Given the description of an element on the screen output the (x, y) to click on. 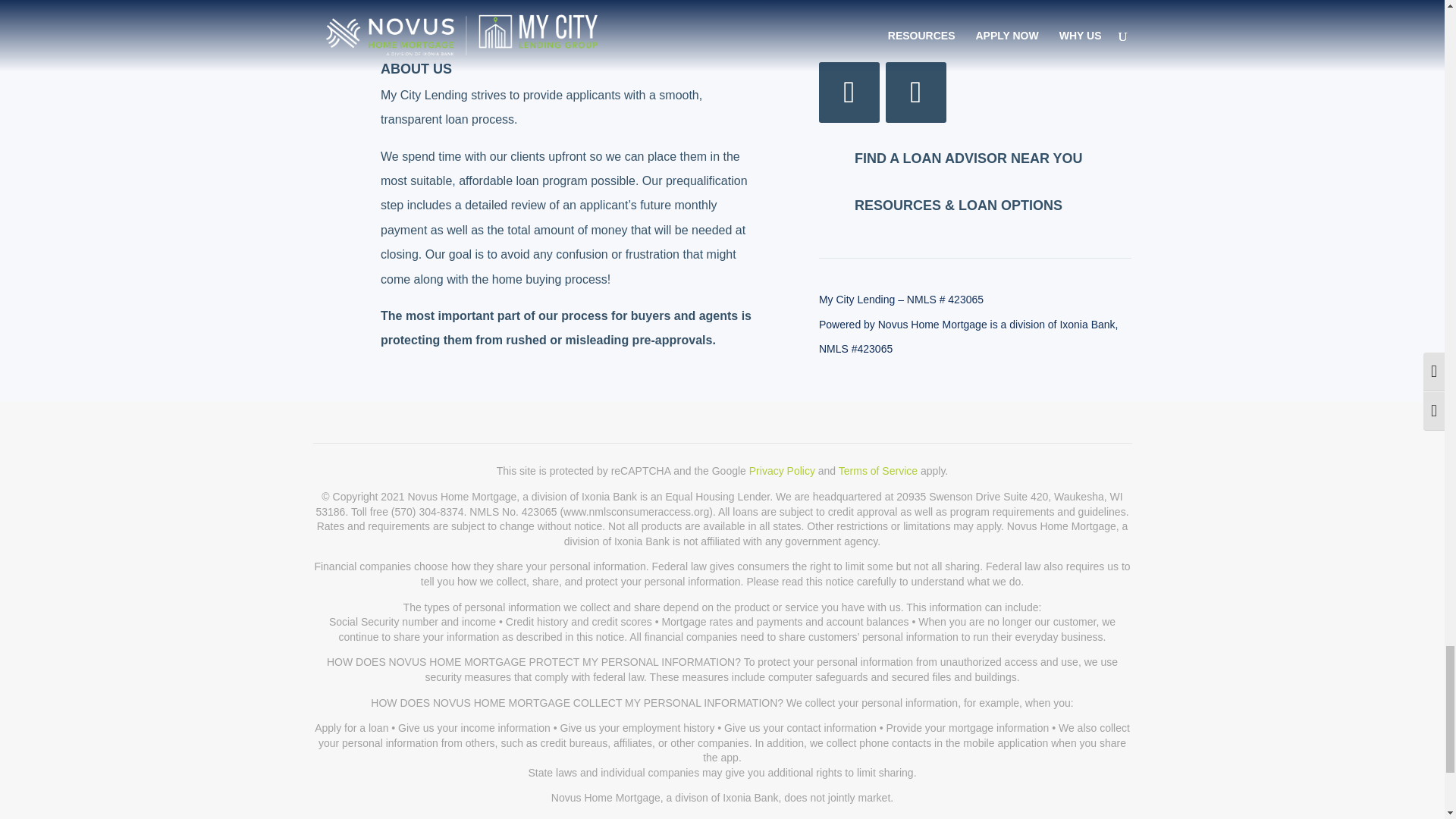
Terms of Service (877, 470)
Follow on Vimeo (915, 92)
Follow on Facebook (848, 92)
Privacy Policy (782, 470)
FIND A LOAN ADVISOR NEAR YOU (968, 158)
ABOUT US (415, 68)
